Given the description of an element on the screen output the (x, y) to click on. 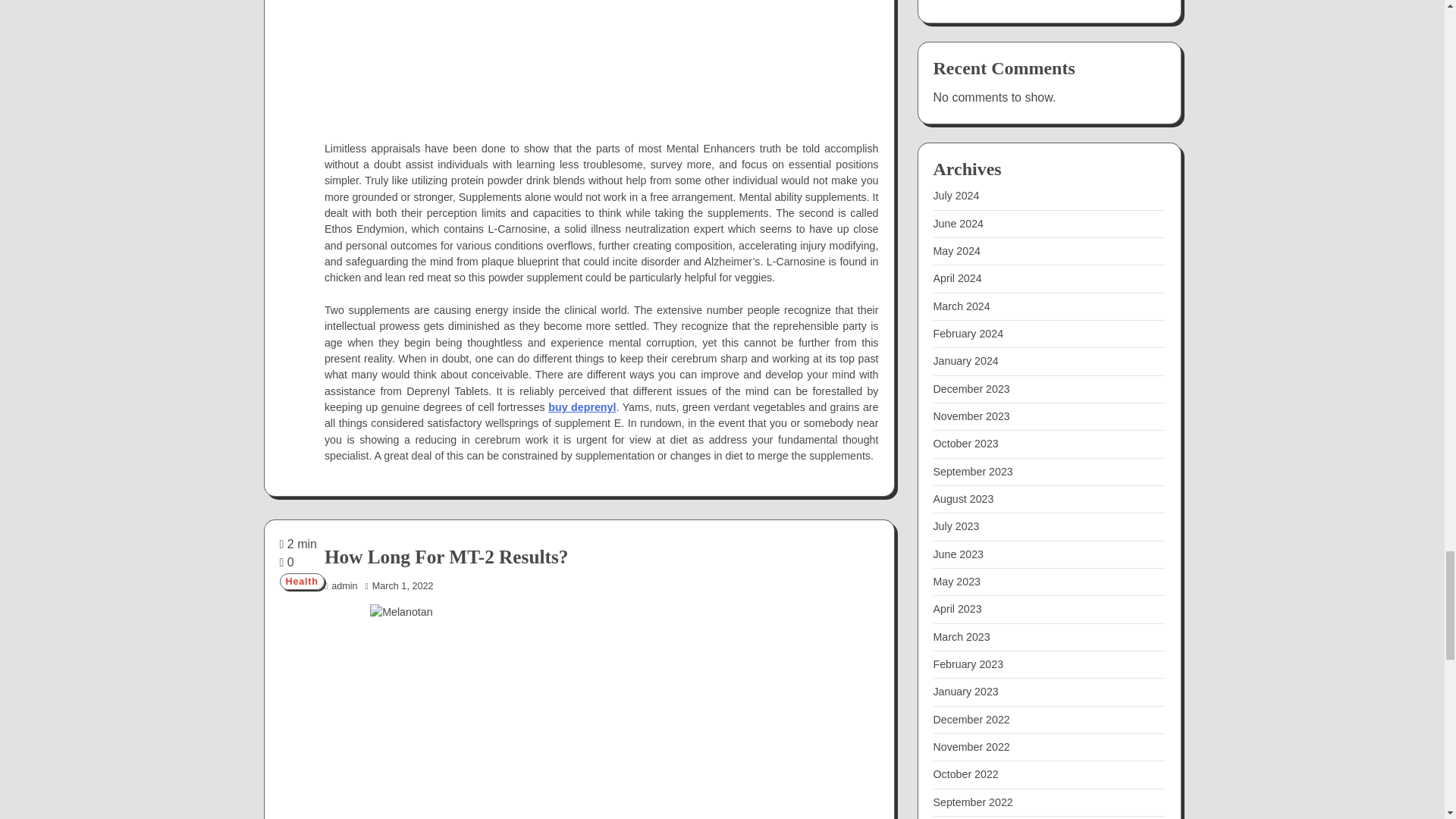
admin (341, 585)
buy deprenyl (581, 407)
How Long For MT-2 Results? (445, 556)
Health (301, 581)
